Given the description of an element on the screen output the (x, y) to click on. 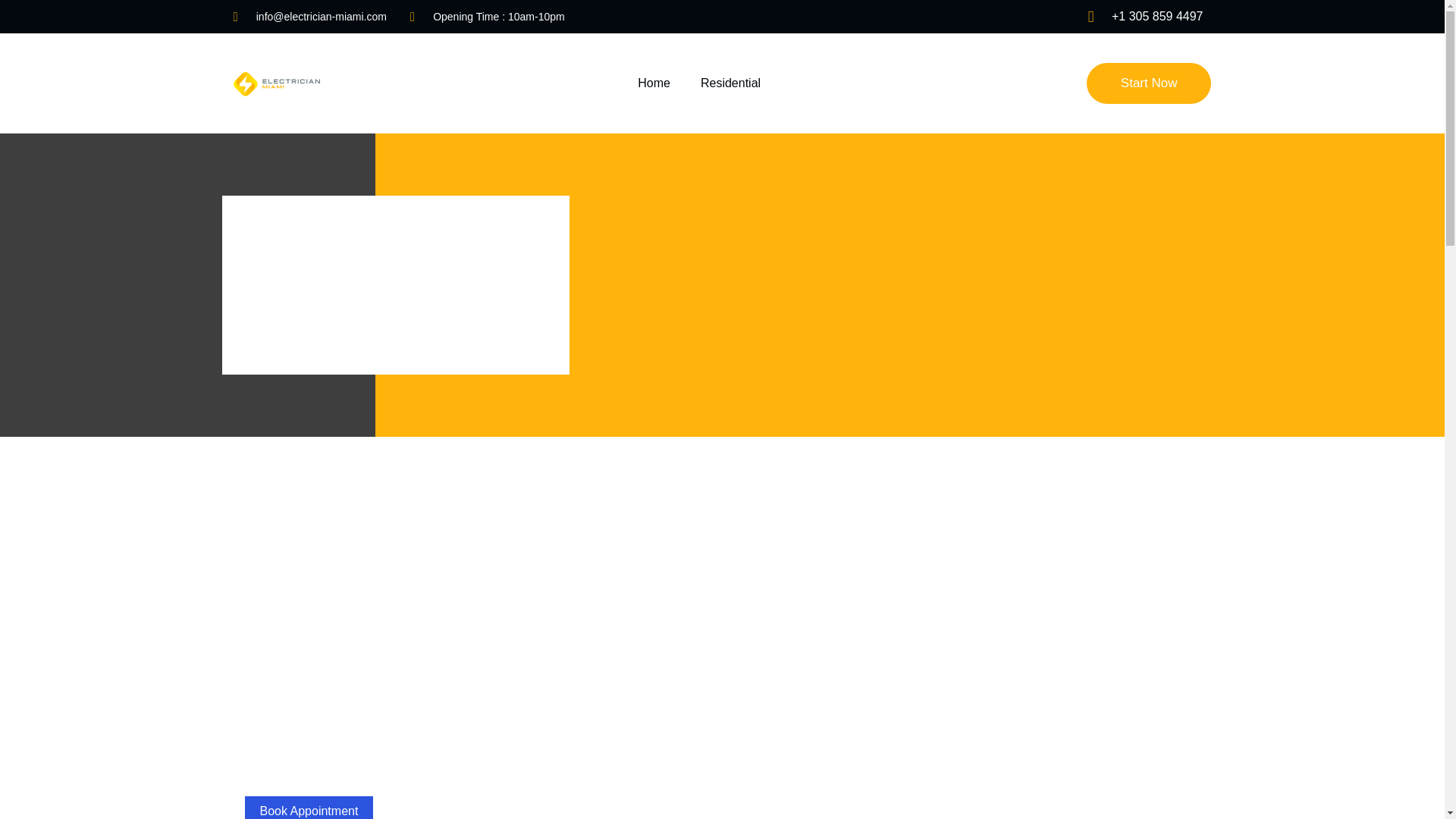
Home (654, 83)
Start Now (1148, 83)
Residential (734, 83)
